Given the description of an element on the screen output the (x, y) to click on. 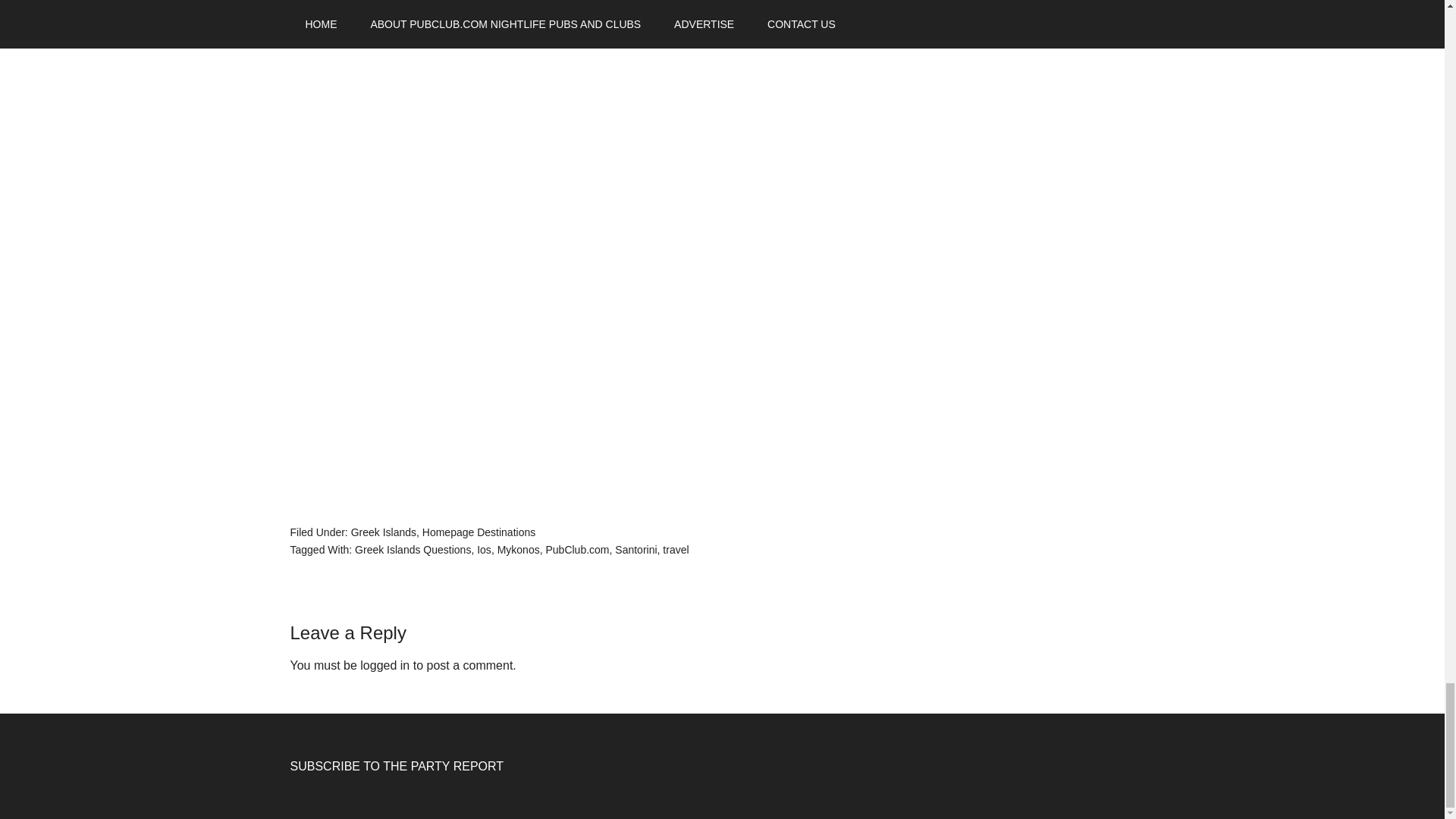
Mykonos (518, 549)
Ios (484, 549)
Greek Islands (383, 532)
logged in (384, 665)
Homepage Destinations (478, 532)
PubClub.com (576, 549)
travel (675, 549)
Santorini (635, 549)
Greek Islands Questions (412, 549)
